Given the description of an element on the screen output the (x, y) to click on. 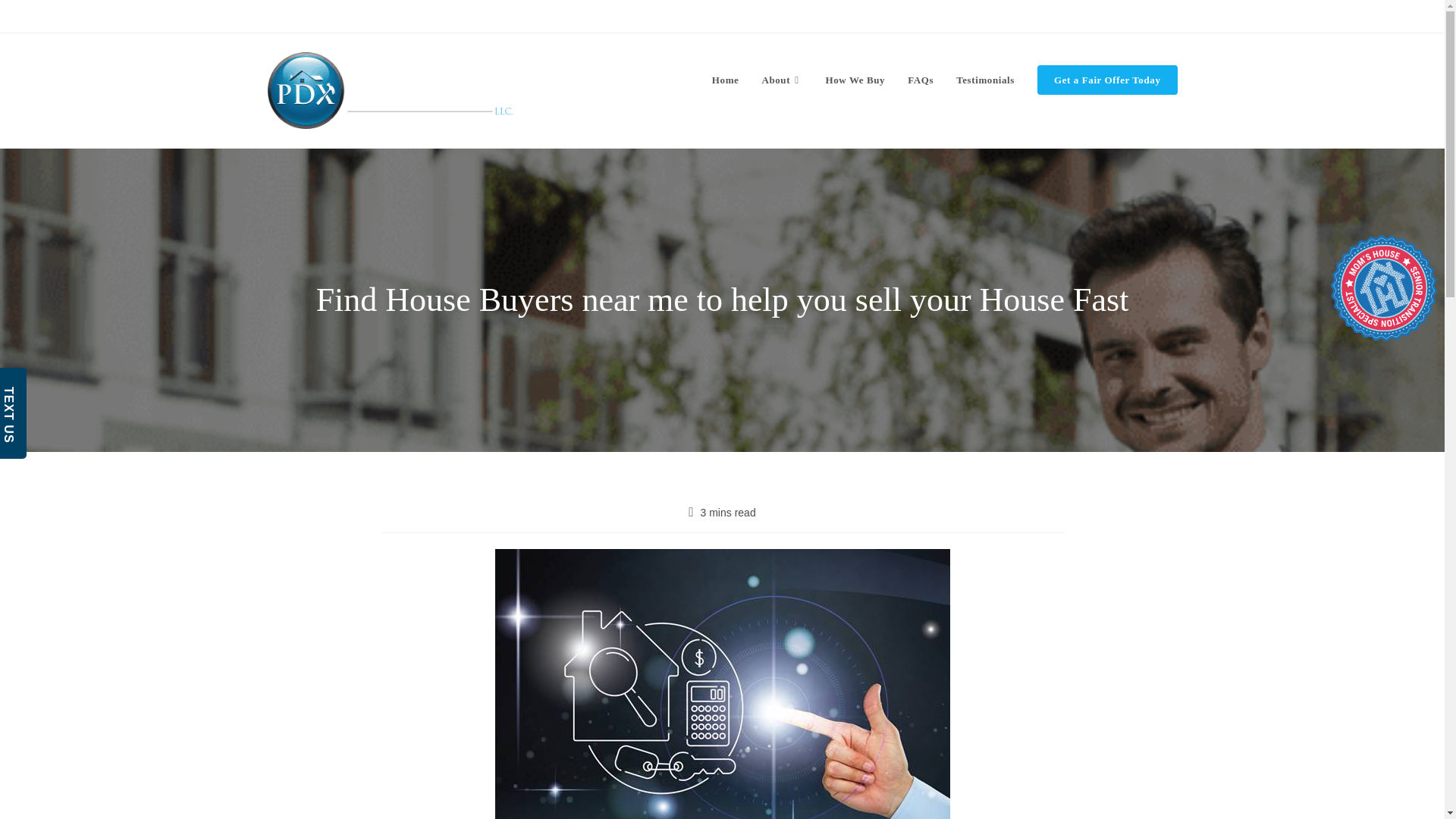
About (781, 80)
How We Buy (854, 80)
Home (626, 15)
Contact Us (681, 15)
Home (725, 80)
Testimonials (985, 80)
Get a Fair Offer Today (1107, 80)
